Given the description of an element on the screen output the (x, y) to click on. 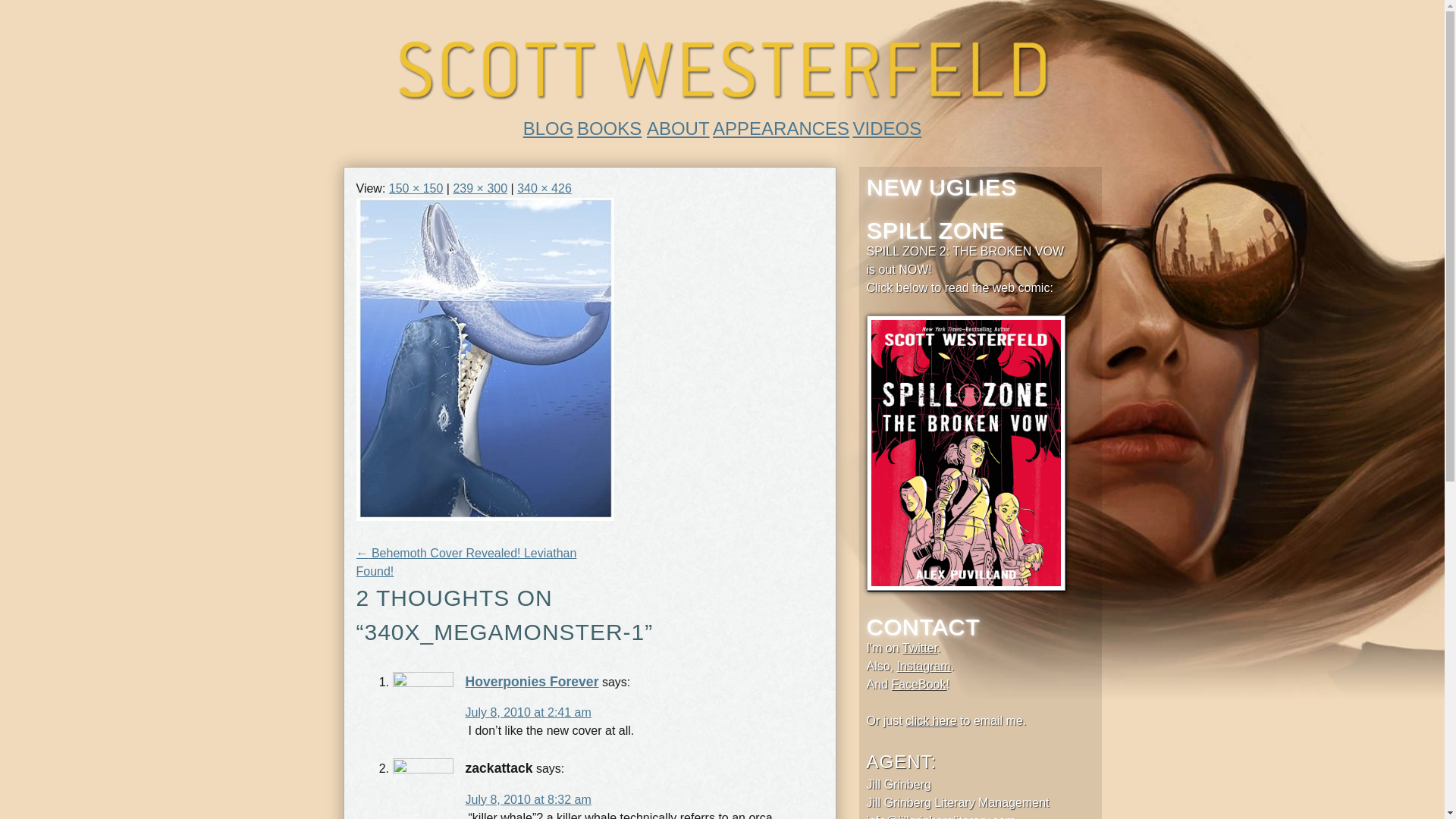
Instagram (923, 666)
Hoverponies Forever (531, 681)
July 8, 2010 at 2:41 am (528, 712)
APPEARANCES (780, 127)
VIDEOS (887, 127)
click here (930, 720)
FaceBook (917, 684)
ABOUT (678, 127)
BLOG (547, 127)
July 8, 2010 at 8:32 am (528, 799)
